Given the description of an element on the screen output the (x, y) to click on. 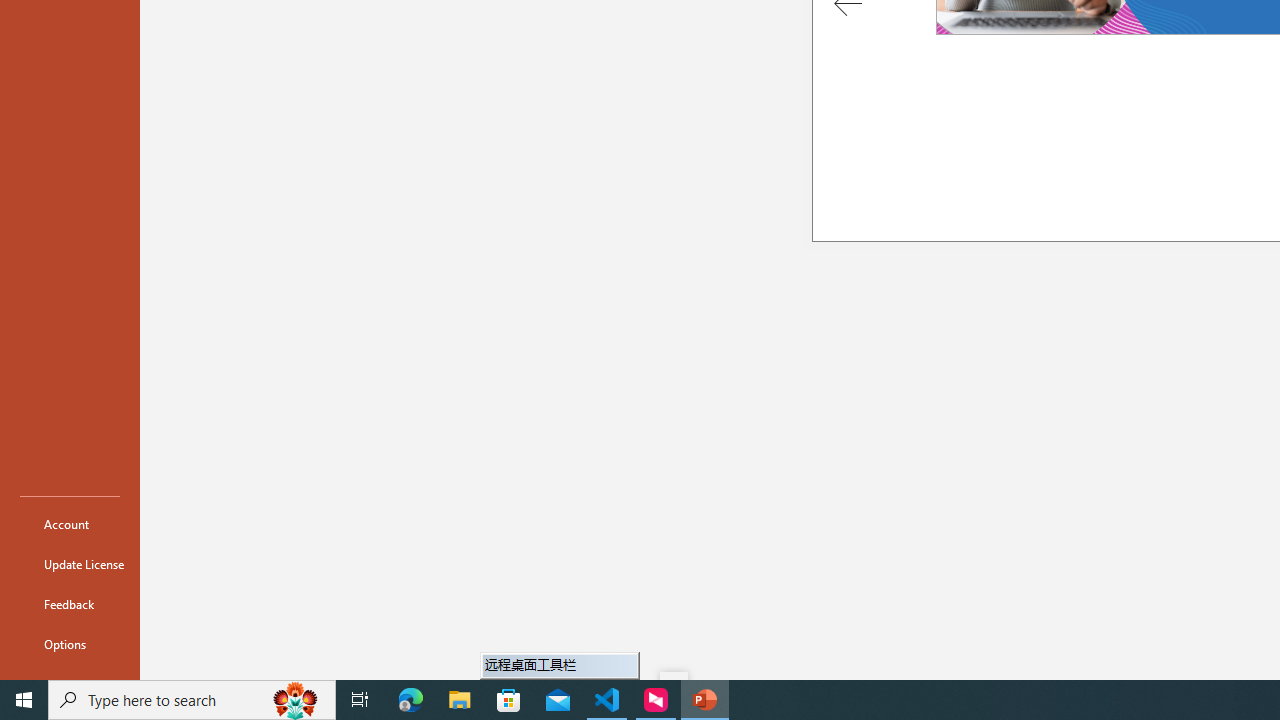
Account (69, 523)
Options (69, 643)
Feedback (69, 603)
Update License (69, 563)
